Given the description of an element on the screen output the (x, y) to click on. 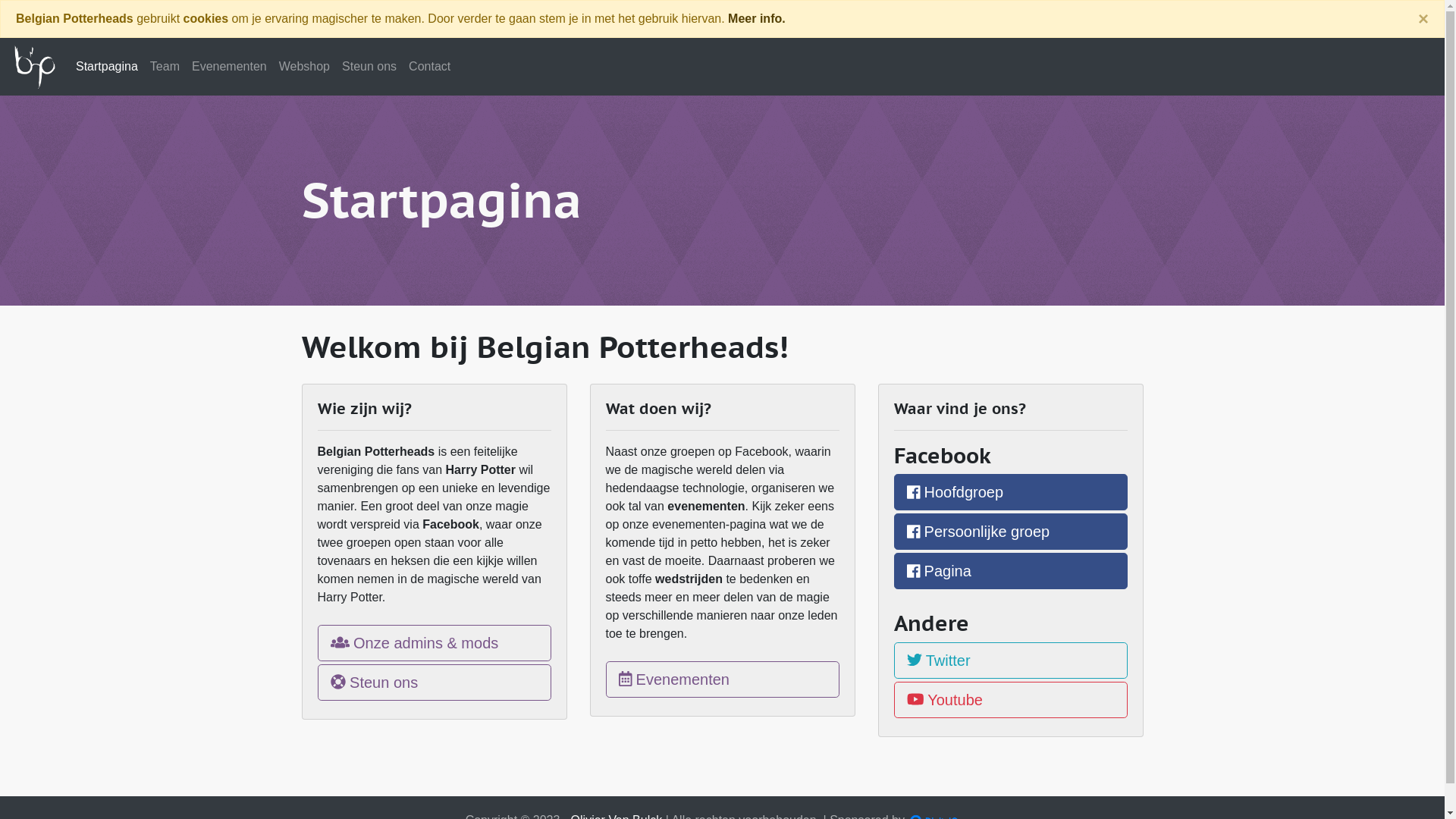
Twitter Element type: text (1009, 660)
Pagina Element type: text (1009, 570)
Team Element type: text (164, 66)
Steun ons Element type: text (368, 66)
Contact Element type: text (429, 66)
Webshop Element type: text (304, 66)
Evenementen Element type: text (229, 66)
Steun ons Element type: text (433, 682)
Youtube Element type: text (1009, 699)
Evenementen Element type: text (721, 679)
Persoonlijke groep Element type: text (1009, 531)
Startpagina Element type: text (106, 66)
Onze admins & mods Element type: text (433, 642)
Hoofdgroep Element type: text (1009, 491)
Meer info. Element type: text (756, 18)
